Given the description of an element on the screen output the (x, y) to click on. 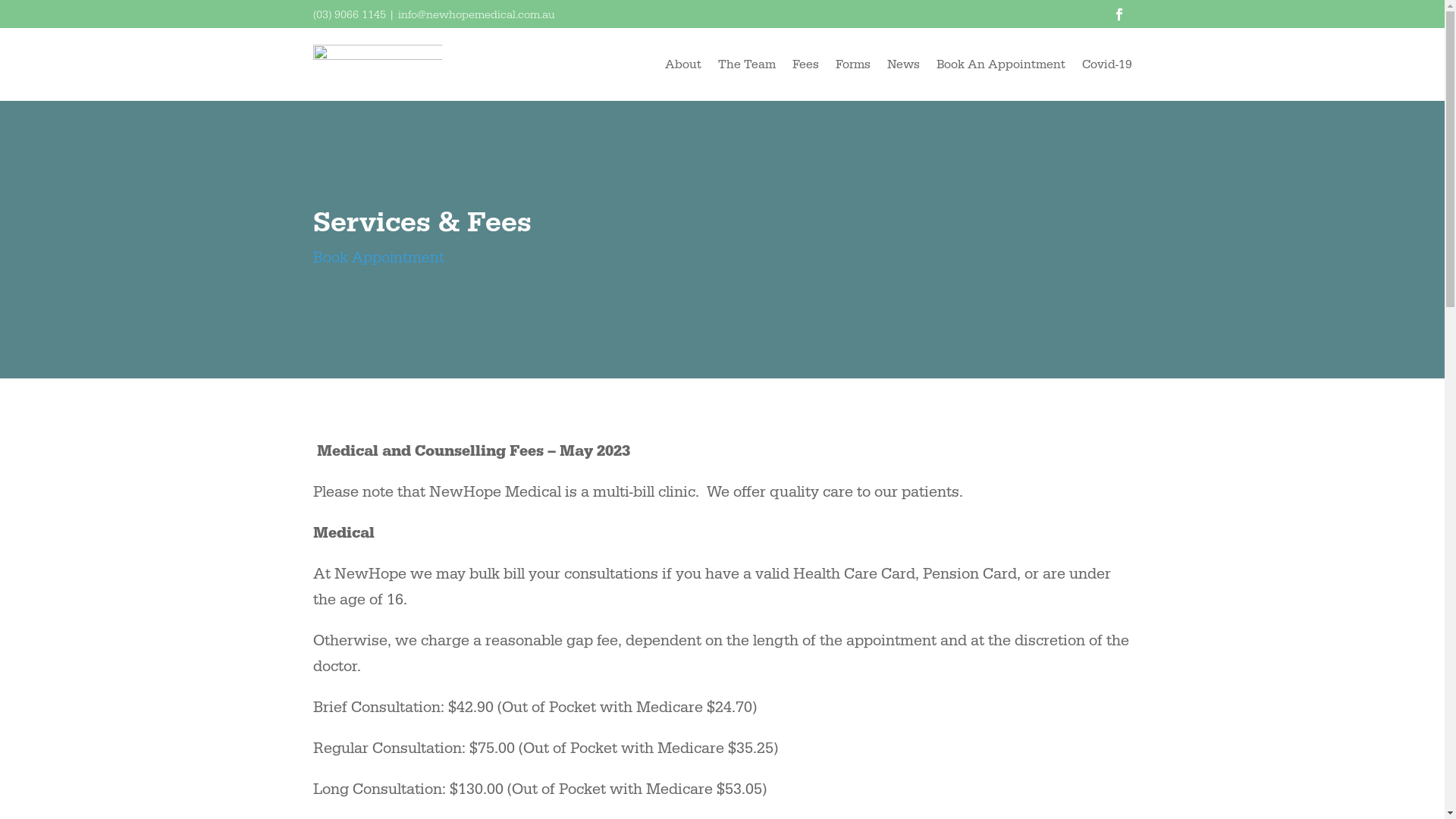
The Team Element type: text (746, 64)
Book An Appointment Element type: text (999, 64)
Book Appointment Element type: text (377, 257)
News Element type: text (903, 64)
About Element type: text (682, 64)
Follow on Facebook Element type: hover (1119, 14)
(03) 9066 1145 Element type: text (348, 14)
Forms Element type: text (852, 64)
info@newhopemedical.com.au Element type: text (475, 14)
Covid-19 Element type: text (1106, 64)
Fees Element type: text (804, 64)
